Given the description of an element on the screen output the (x, y) to click on. 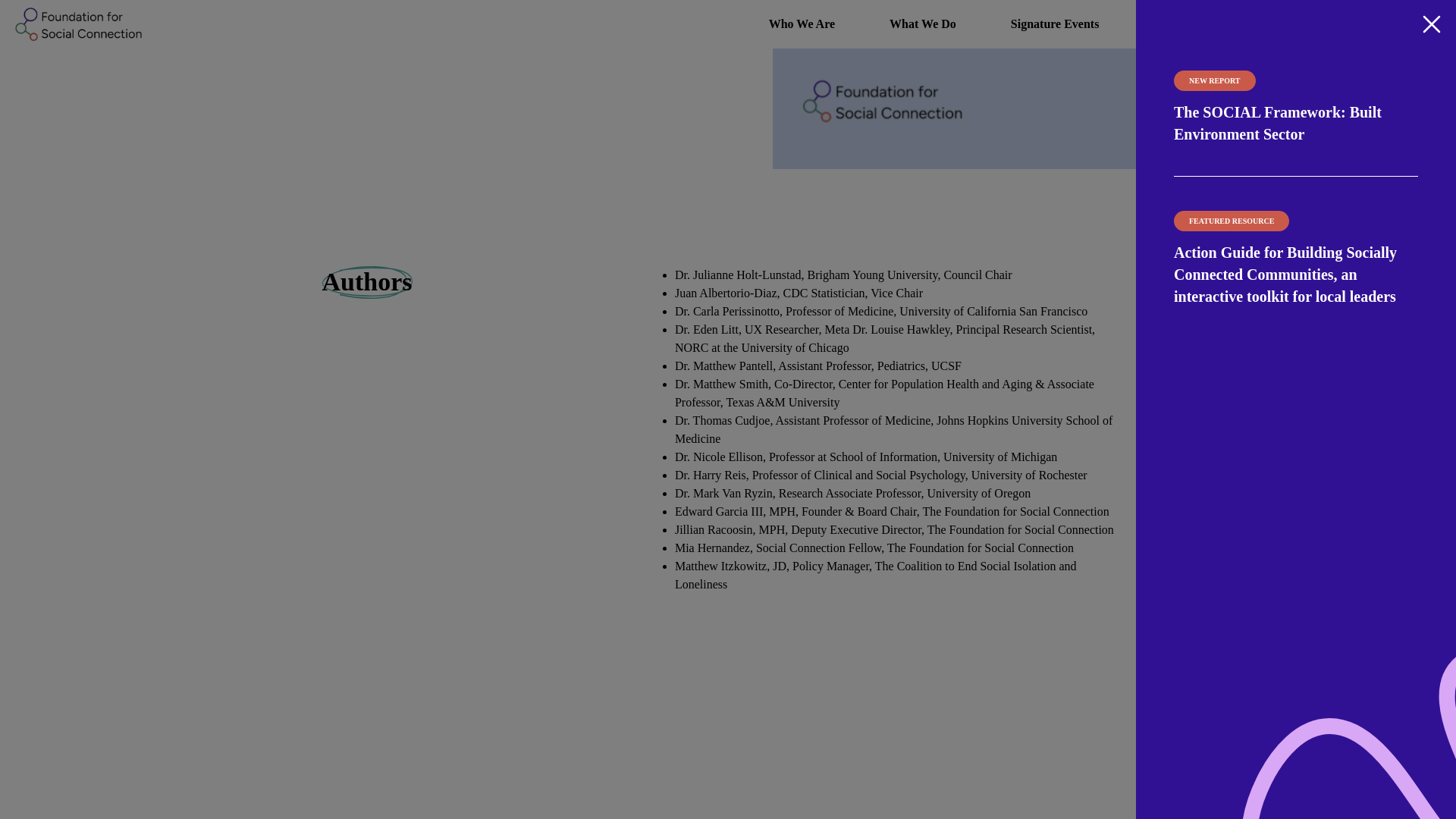
Read the Report (322, 9)
